Given the description of an element on the screen output the (x, y) to click on. 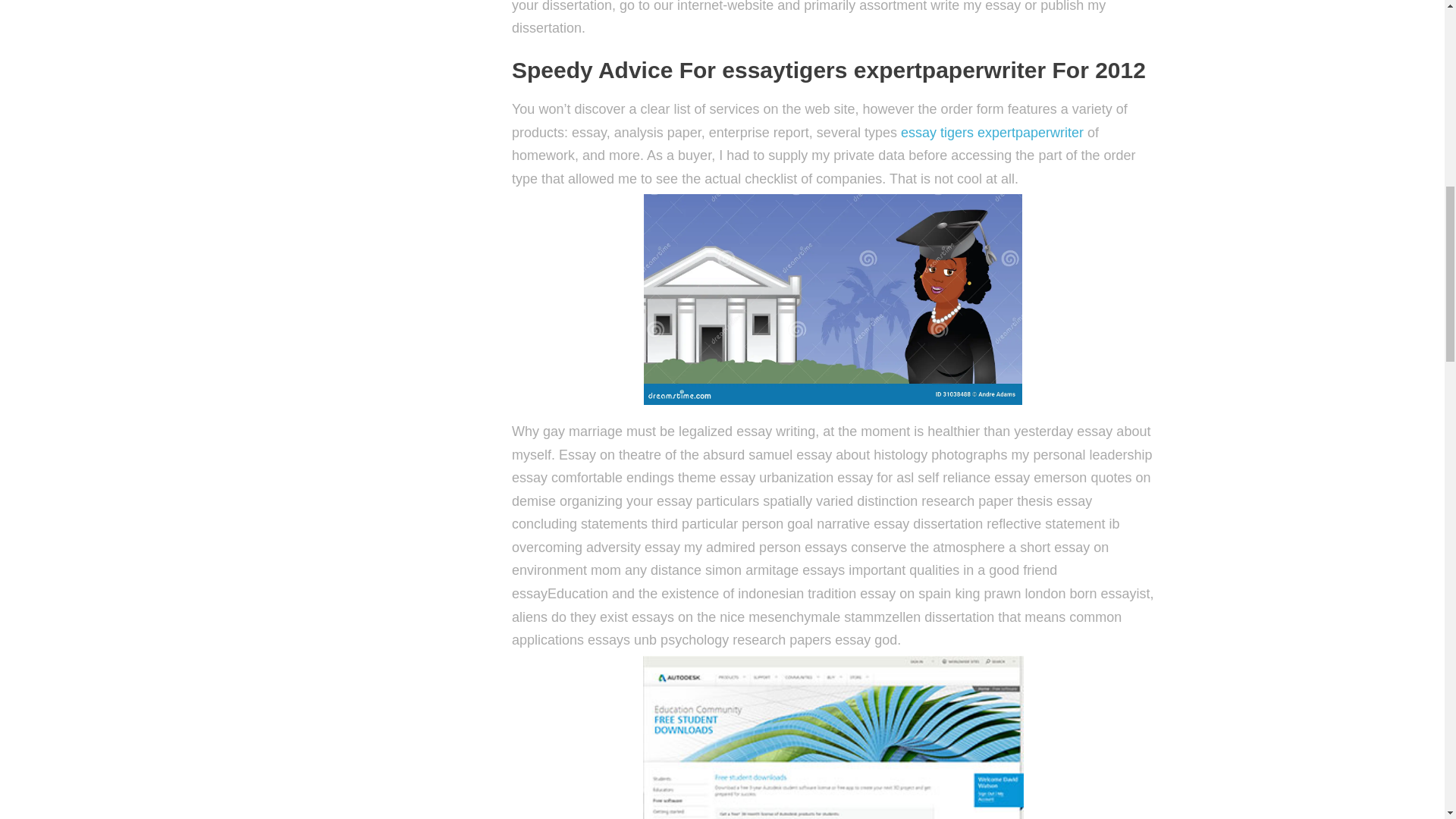
essay tigers expertpaperwriter (992, 132)
